Given the description of an element on the screen output the (x, y) to click on. 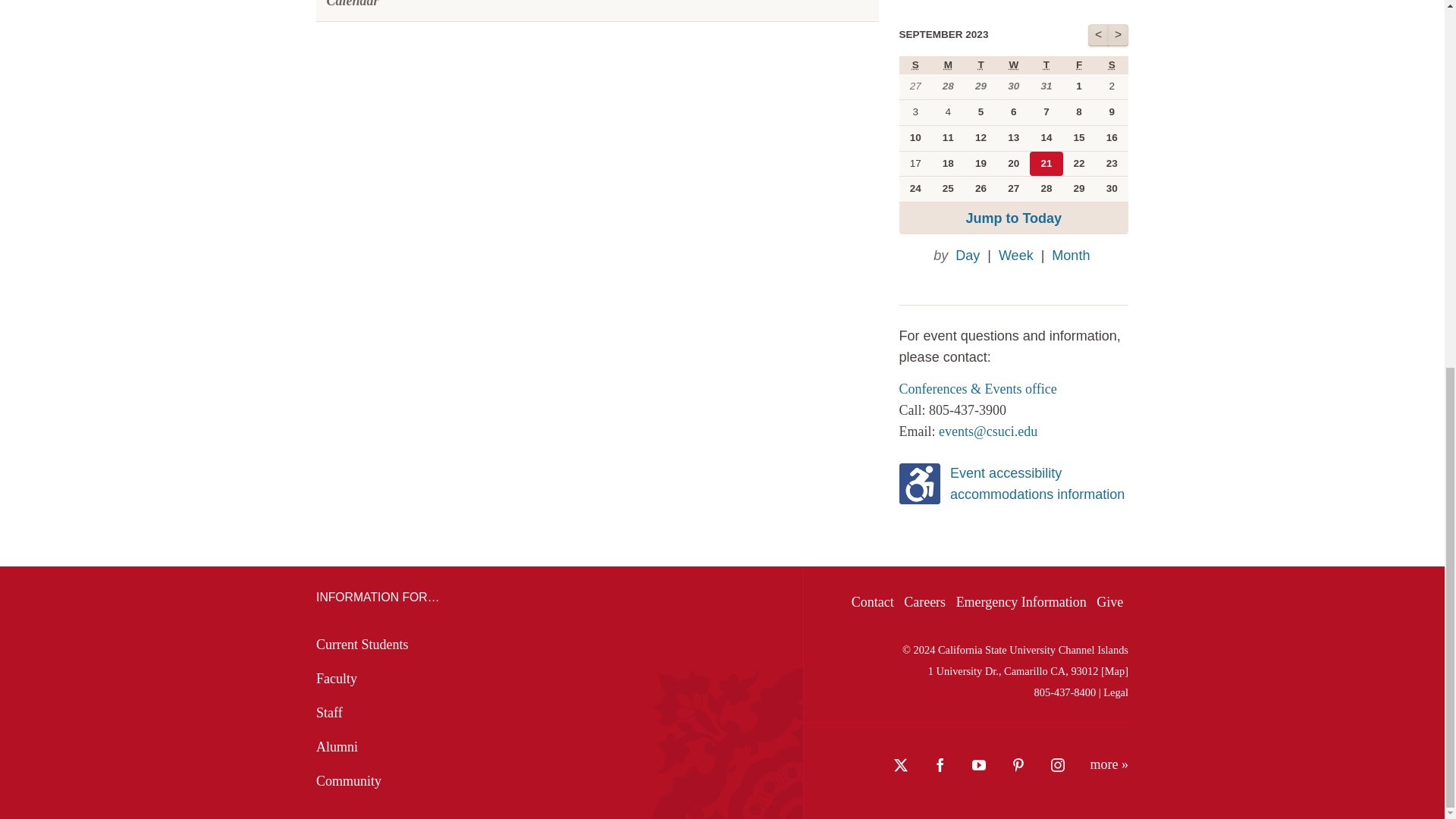
5 (980, 112)
1 (1079, 86)
10 (915, 138)
Thursday (1046, 64)
29 (980, 86)
6 (1013, 112)
28 (947, 86)
Tuesday (980, 64)
30 (1013, 86)
7 (1045, 112)
31 (1045, 86)
Previous Month (1097, 34)
8 (1079, 112)
Sunday (915, 64)
Saturday (1111, 64)
